Given the description of an element on the screen output the (x, y) to click on. 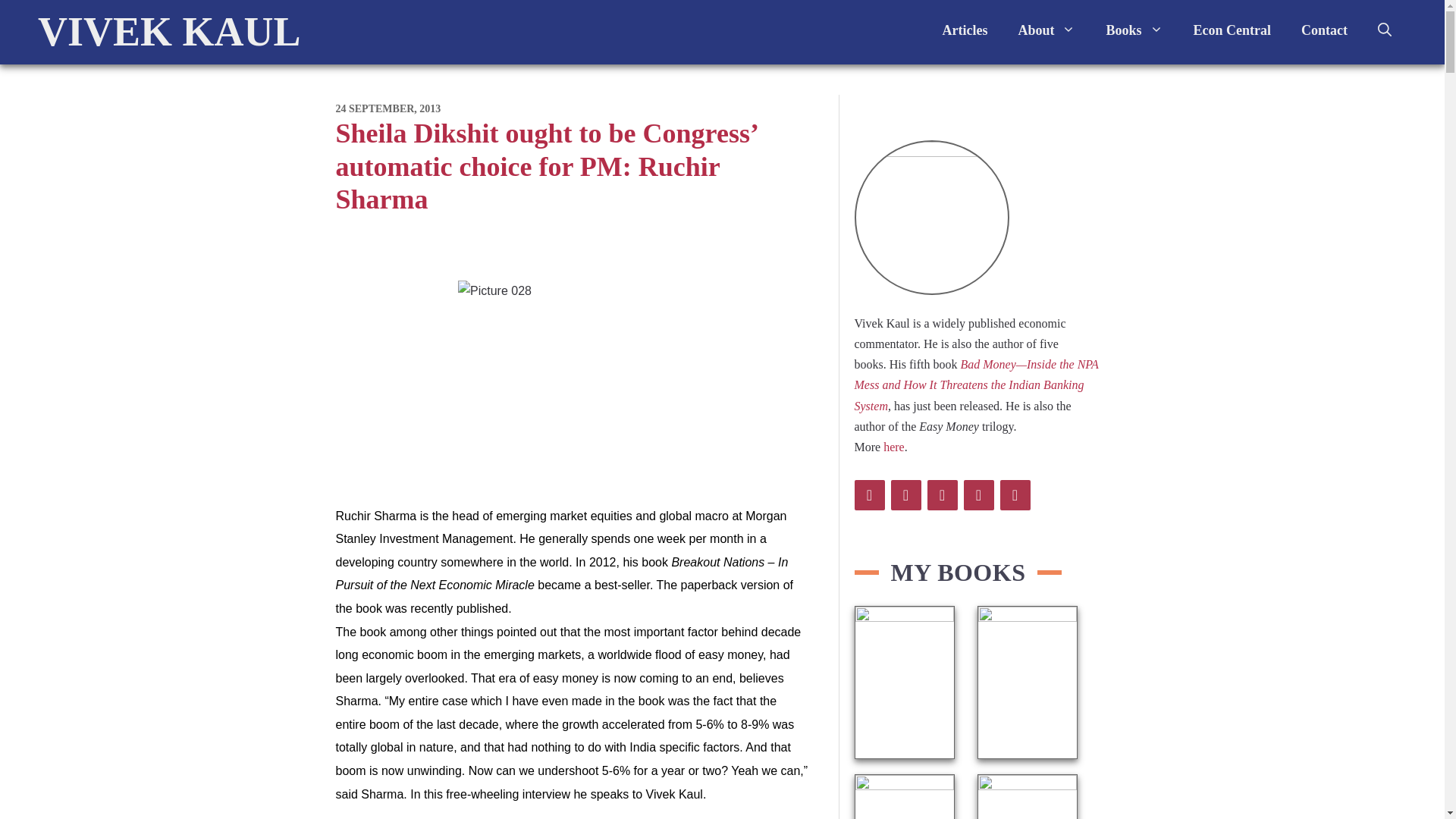
Books written by Vivek Kaul (1133, 30)
Twitter (868, 494)
Contact (1323, 30)
VIVEK KAUL (169, 31)
About (1046, 30)
Econ Central (1232, 30)
Articles (964, 30)
Get in touch  (1323, 30)
Books (1133, 30)
